Given the description of an element on the screen output the (x, y) to click on. 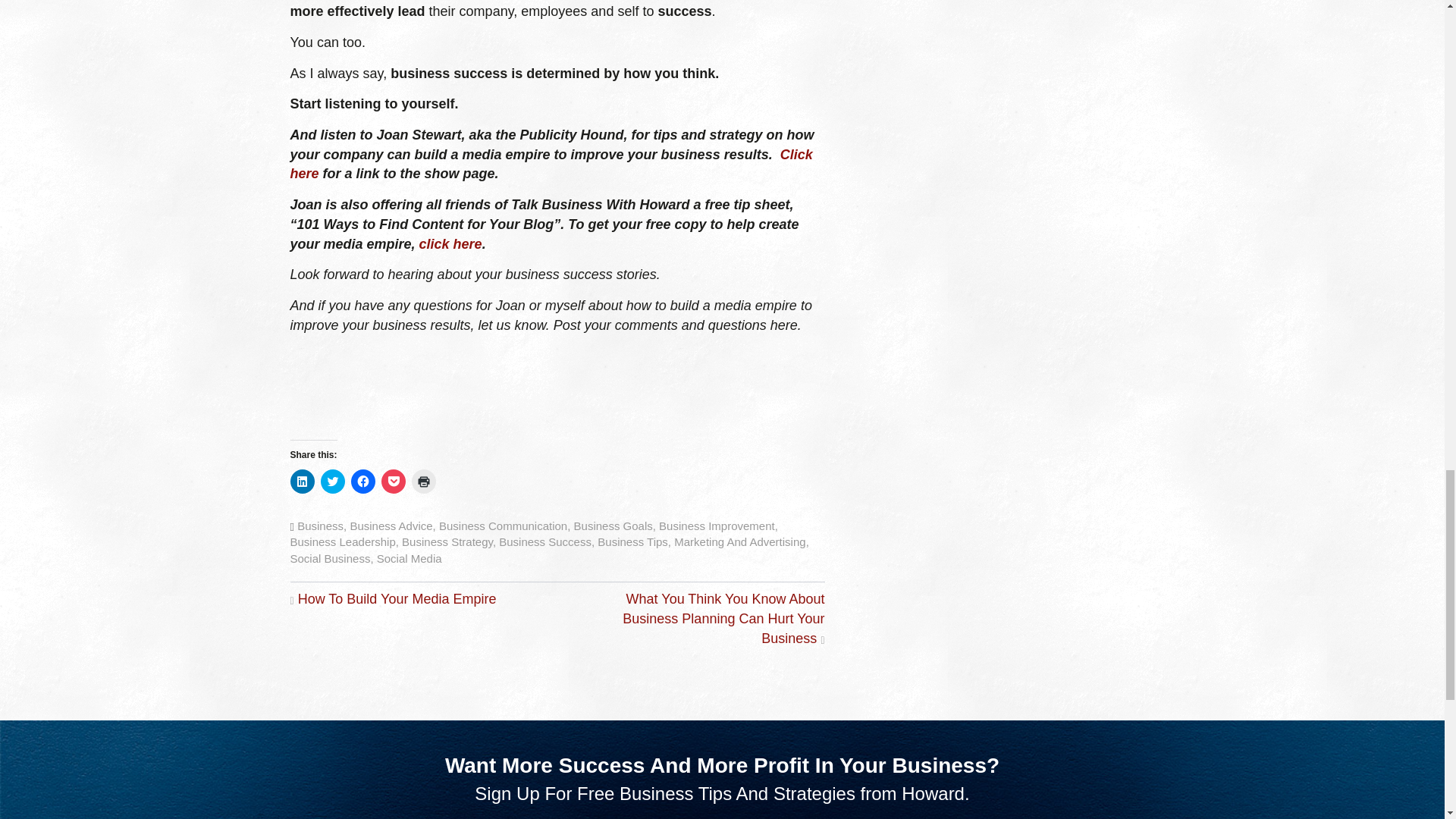
Business (320, 525)
How To Build Your Media Empire (397, 598)
Business Tips (632, 541)
Business Improvement (716, 525)
Click to share on Pocket (392, 481)
Click here (550, 164)
Social Business (329, 558)
Business Advice (390, 525)
Click to print (422, 481)
Click to share on Twitter (331, 481)
click here (450, 243)
Business Leadership (341, 541)
Business Goals (612, 525)
Business Communication (503, 525)
